Given the description of an element on the screen output the (x, y) to click on. 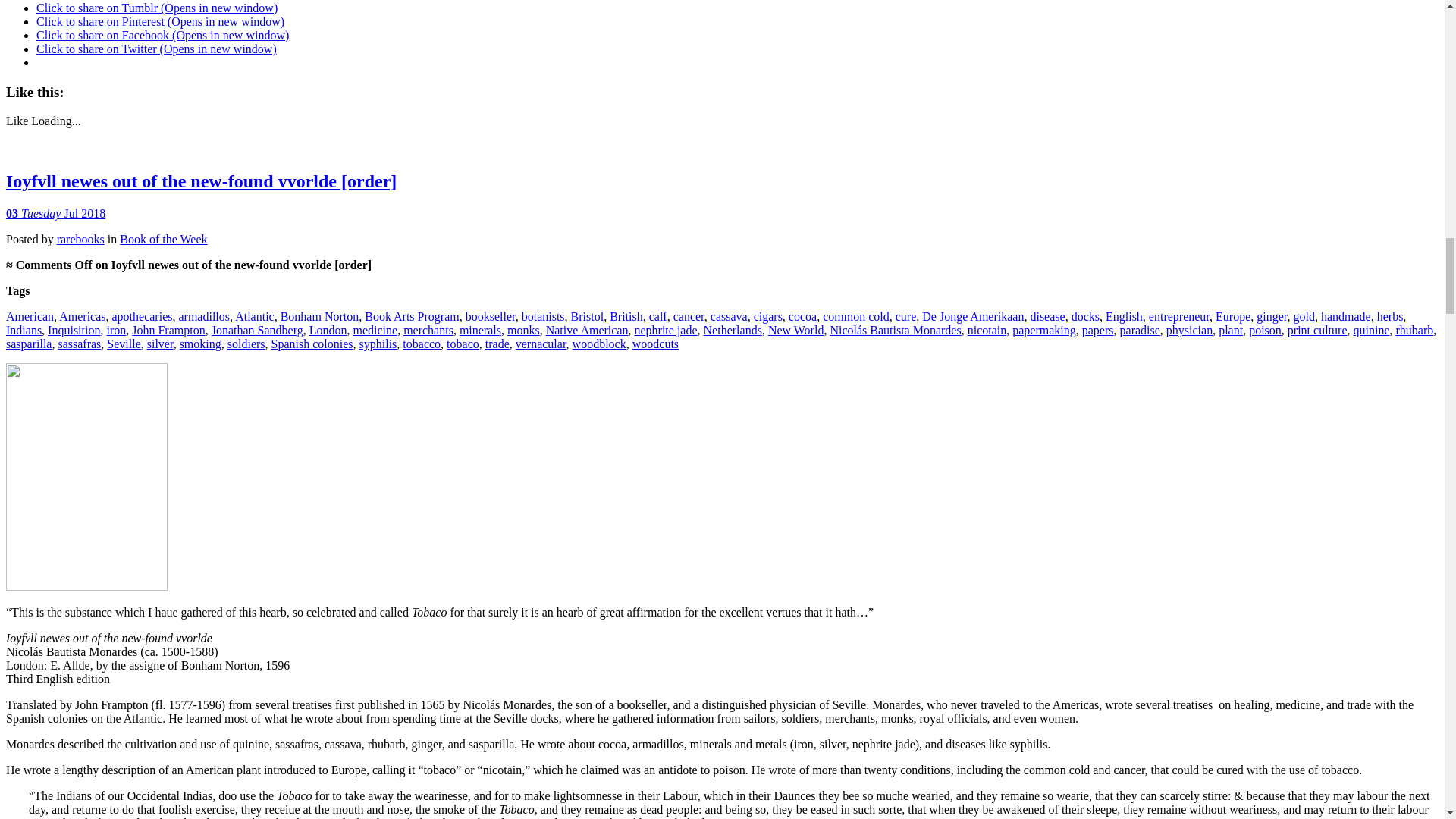
Click to share on Pinterest (159, 21)
View all posts by rarebooks (80, 238)
Click to share on Twitter (156, 48)
Click to share on Tumblr (157, 7)
Click to share on Facebook (162, 34)
